Given the description of an element on the screen output the (x, y) to click on. 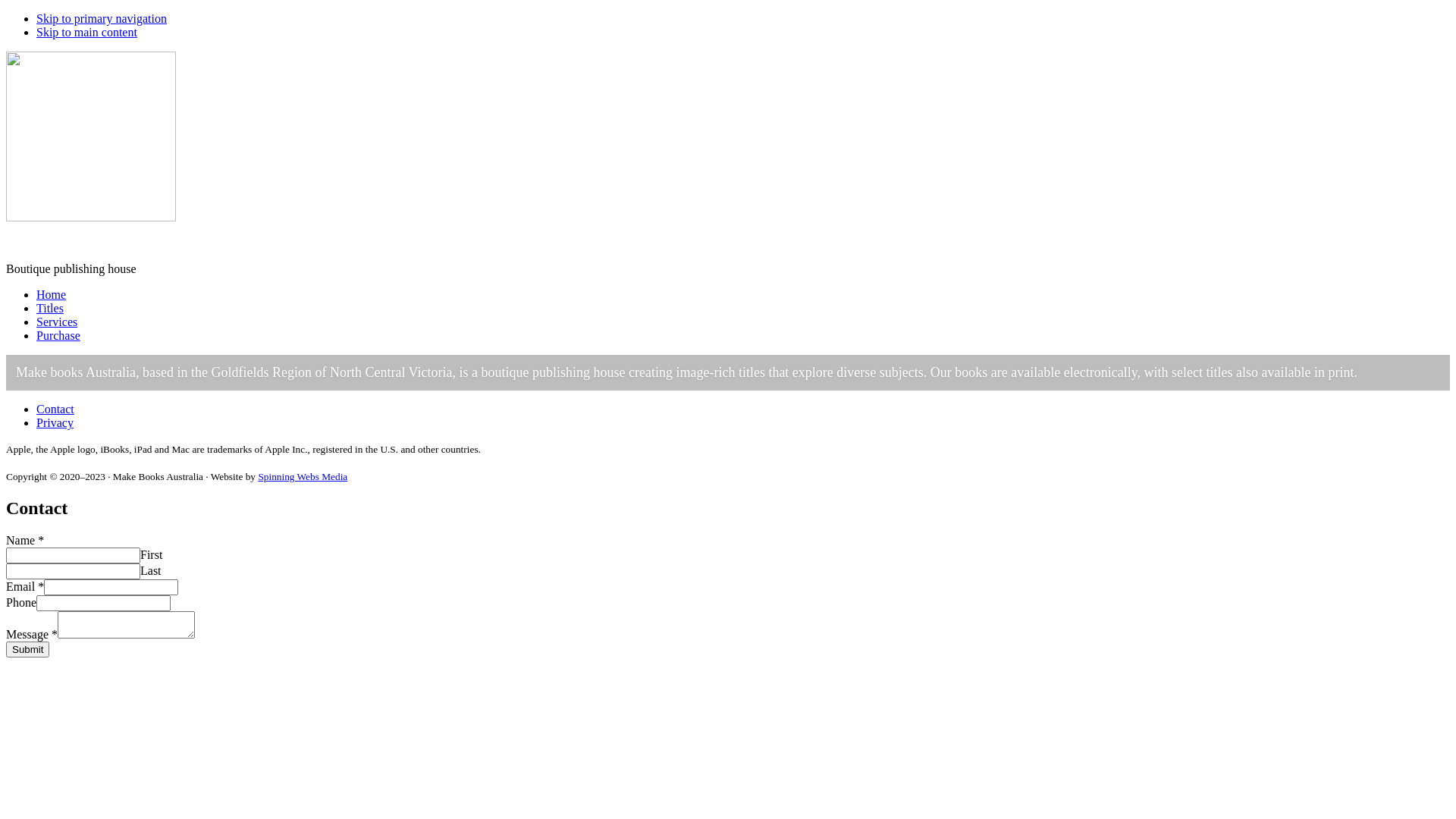
Skip to primary navigation Element type: text (101, 18)
Contact Element type: text (55, 408)
Services Element type: text (56, 321)
Spinning Webs Media Element type: text (302, 476)
Submit Element type: text (27, 649)
Make Books Australia Element type: text (60, 242)
Purchase Element type: text (58, 335)
Home Element type: text (50, 294)
Privacy Element type: text (54, 422)
Skip to main content Element type: text (86, 31)
Titles Element type: text (49, 307)
